Given the description of an element on the screen output the (x, y) to click on. 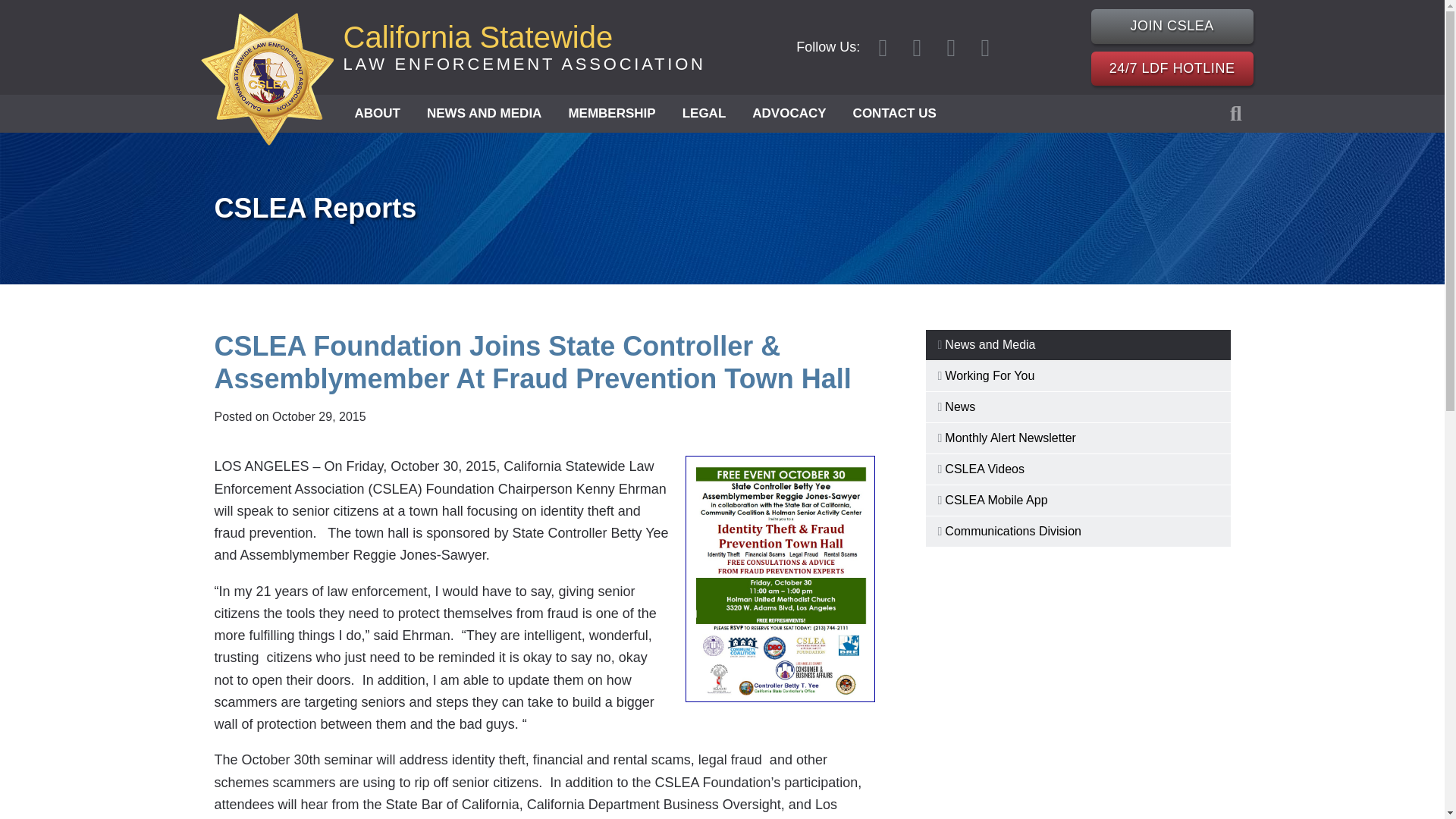
ABOUT (376, 113)
MEMBERSHIP (611, 113)
NEWS AND MEDIA (523, 47)
JOIN CSLEA (483, 113)
